Given the description of an element on the screen output the (x, y) to click on. 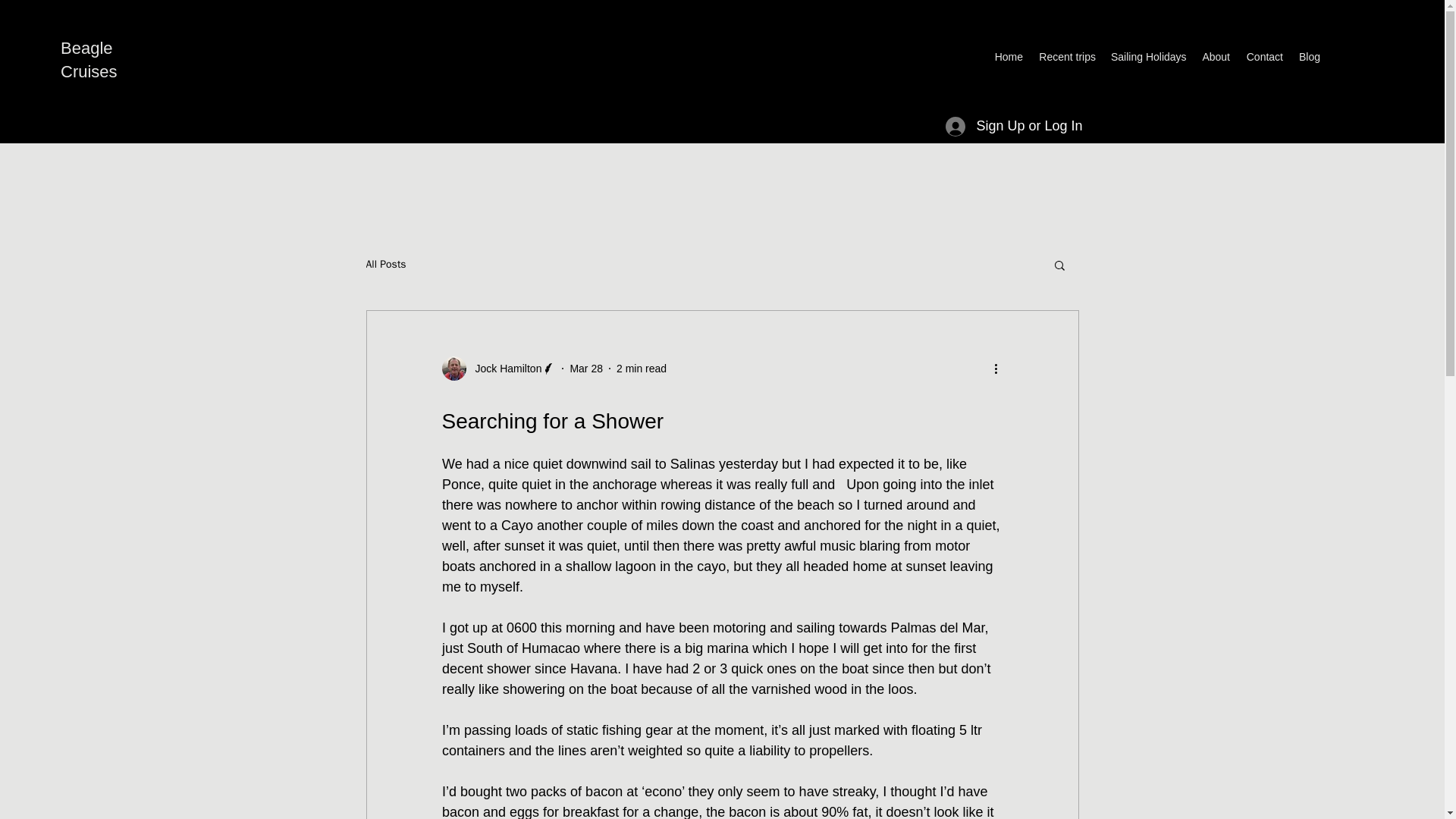
2 min read (640, 368)
Jock Hamilton (498, 368)
Mar 28 (585, 368)
Home (1008, 56)
Blog (1308, 56)
Contact (1263, 56)
Jock Hamilton (503, 368)
Sailing Holidays (1147, 56)
About (1214, 56)
Sign Up or Log In (1013, 126)
